Given the description of an element on the screen output the (x, y) to click on. 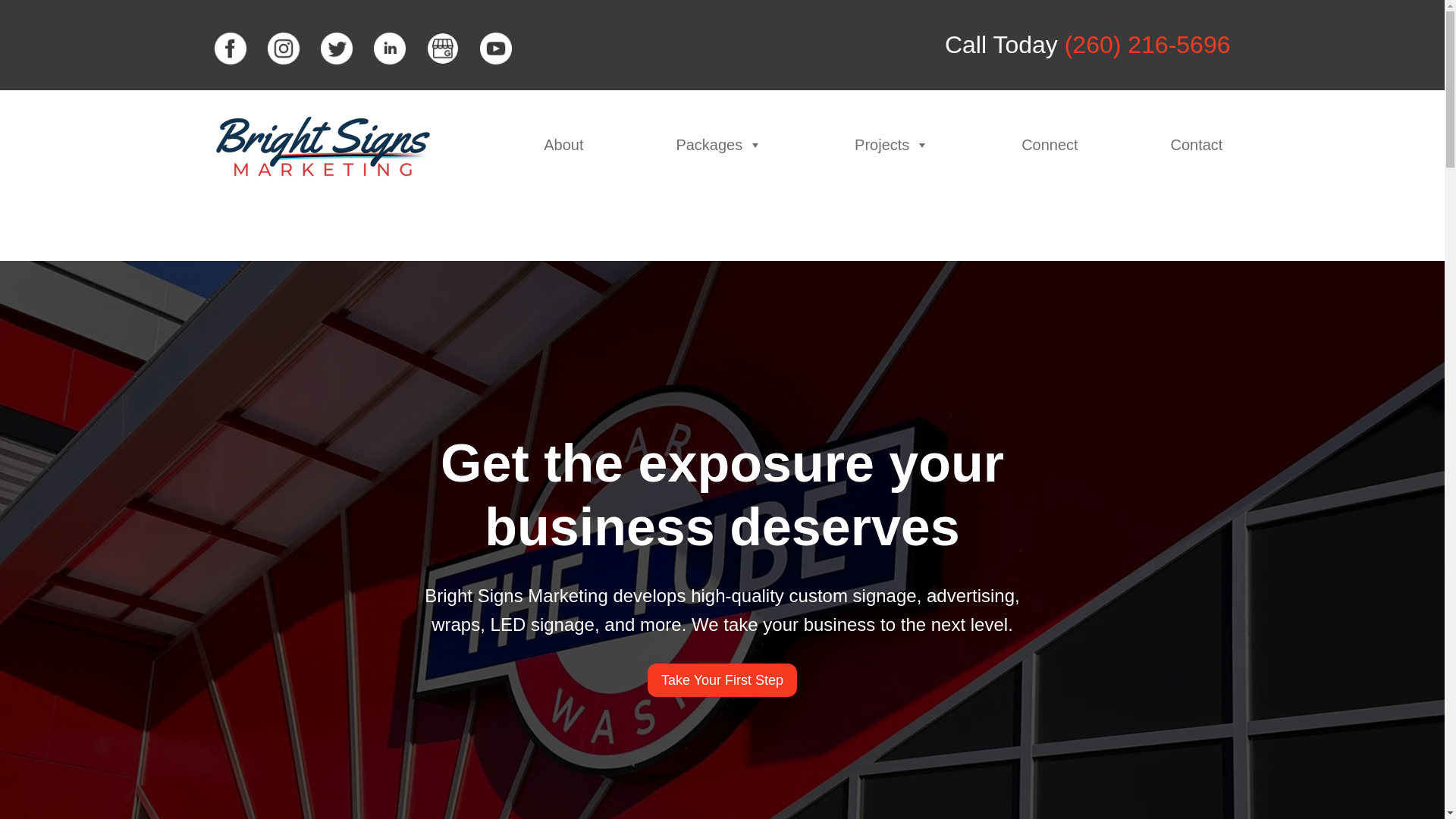
Contact (1196, 144)
Projects (891, 144)
About (563, 144)
Take Your First Step (721, 679)
Connect (1049, 144)
Packages (719, 144)
